Given the description of an element on the screen output the (x, y) to click on. 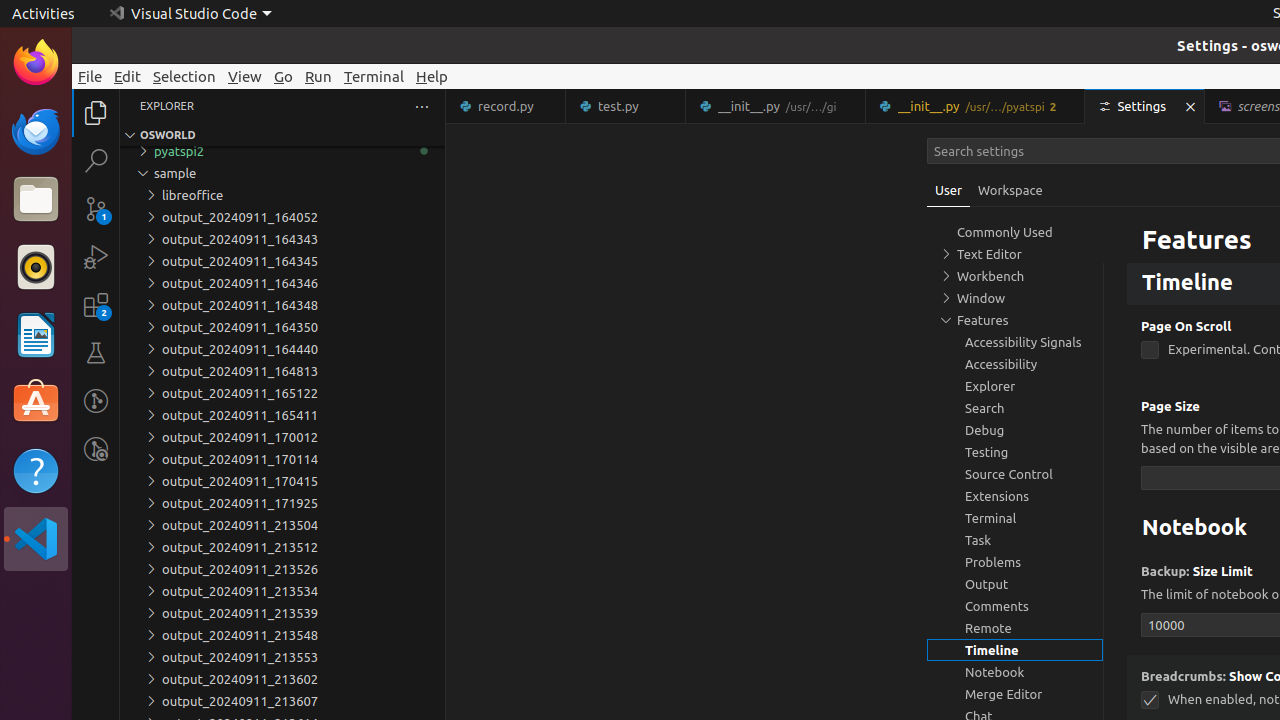
timeline.pageOnScroll Element type: check-box (1150, 350)
Merge Editor, group Element type: tree-item (1015, 694)
__init__.py Element type: page-tab (975, 106)
pyatspi2 Element type: tree-item (282, 151)
Remote, group Element type: tree-item (1015, 628)
